Given the description of an element on the screen output the (x, y) to click on. 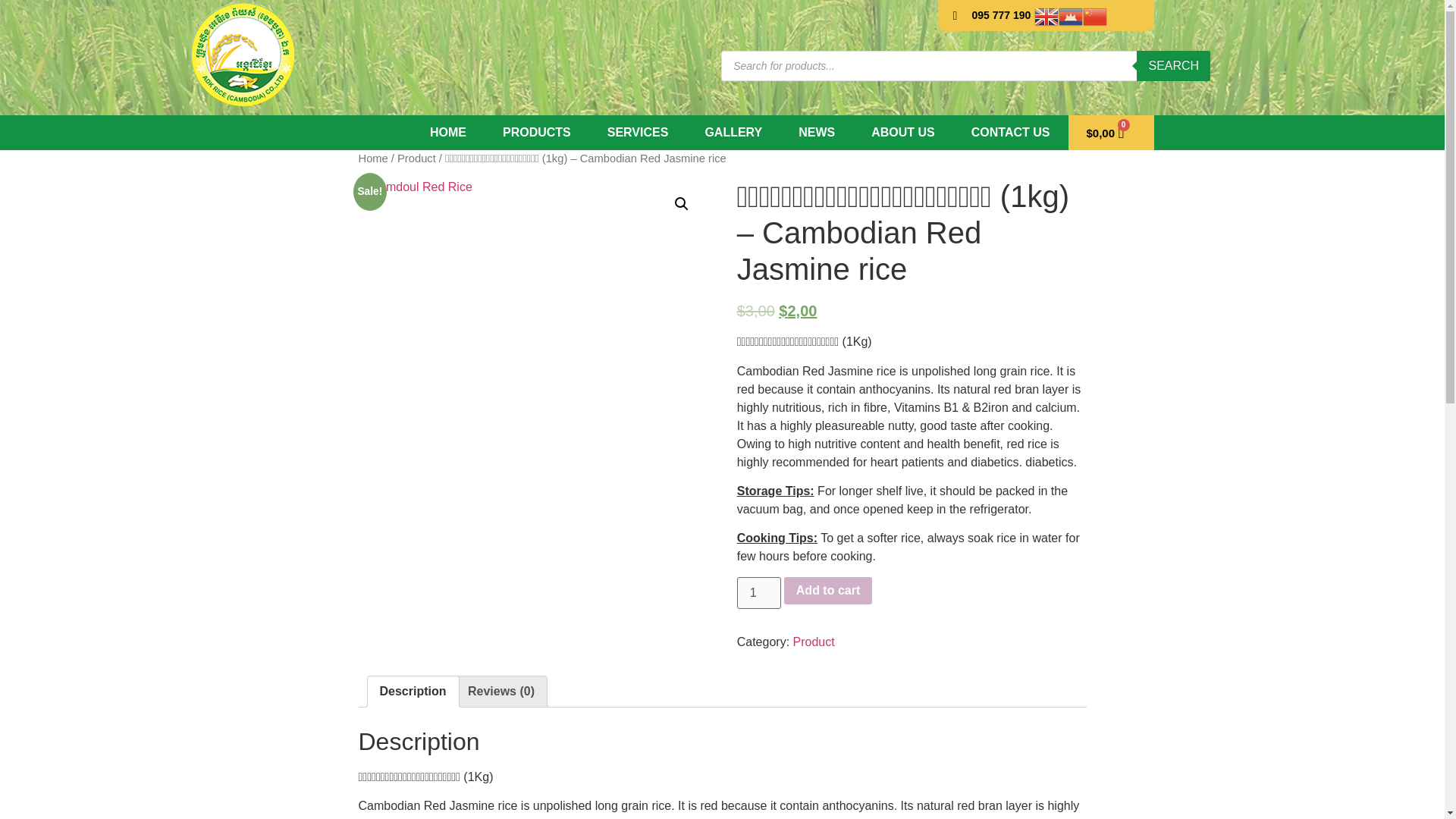
Home (372, 158)
romdoul-red-rice (532, 352)
SEARCH (1173, 64)
1 (758, 593)
Add to cart (828, 590)
Qty (758, 593)
Khmer (1070, 15)
Product (416, 158)
ABOUT US (903, 132)
CONTACT US (1010, 132)
English (1045, 15)
NEWS (816, 132)
Product (813, 641)
Description (411, 691)
SERVICES (638, 132)
